Given the description of an element on the screen output the (x, y) to click on. 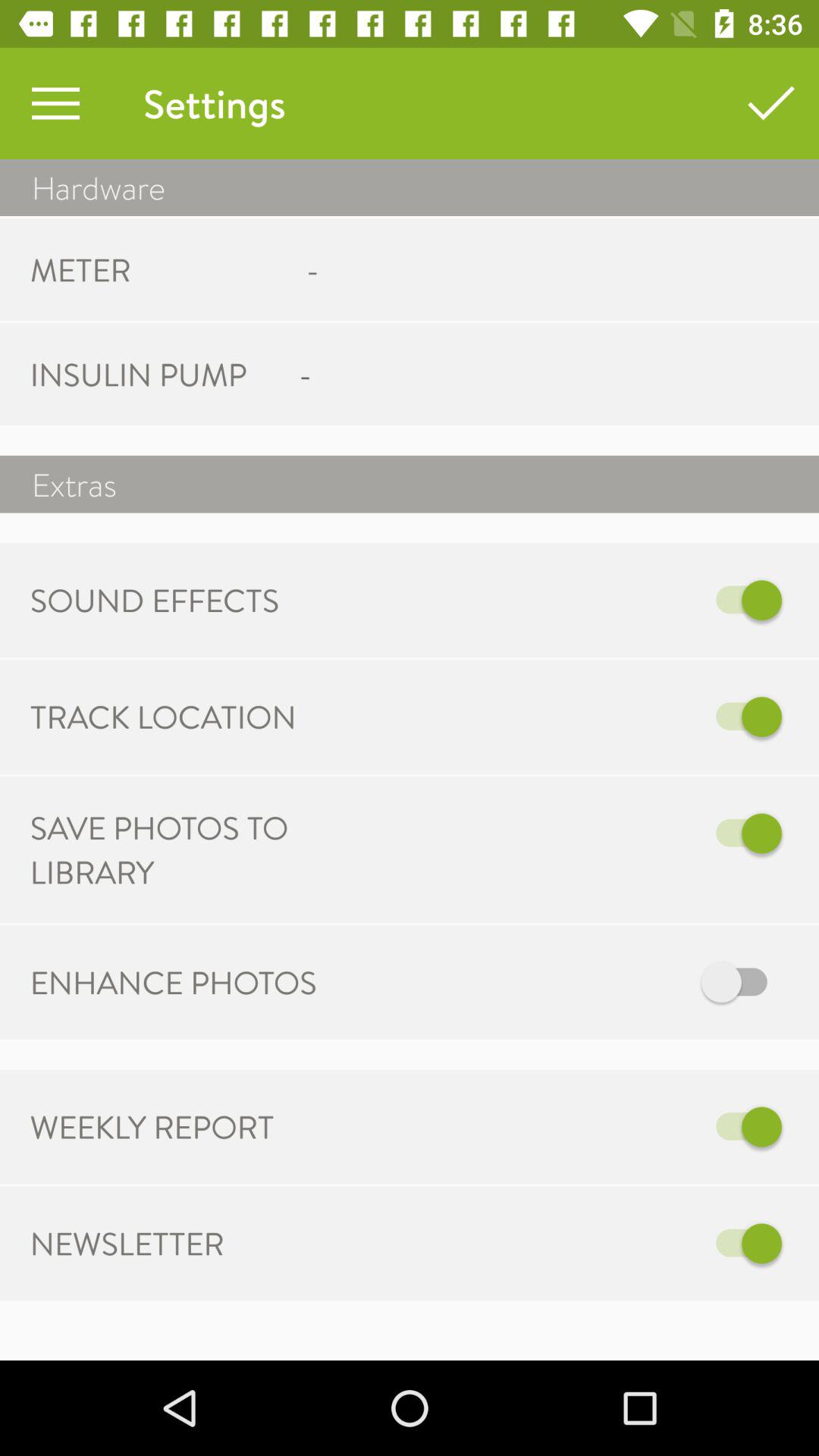
launch item to the right of weekly report item (566, 1126)
